Given the description of an element on the screen output the (x, y) to click on. 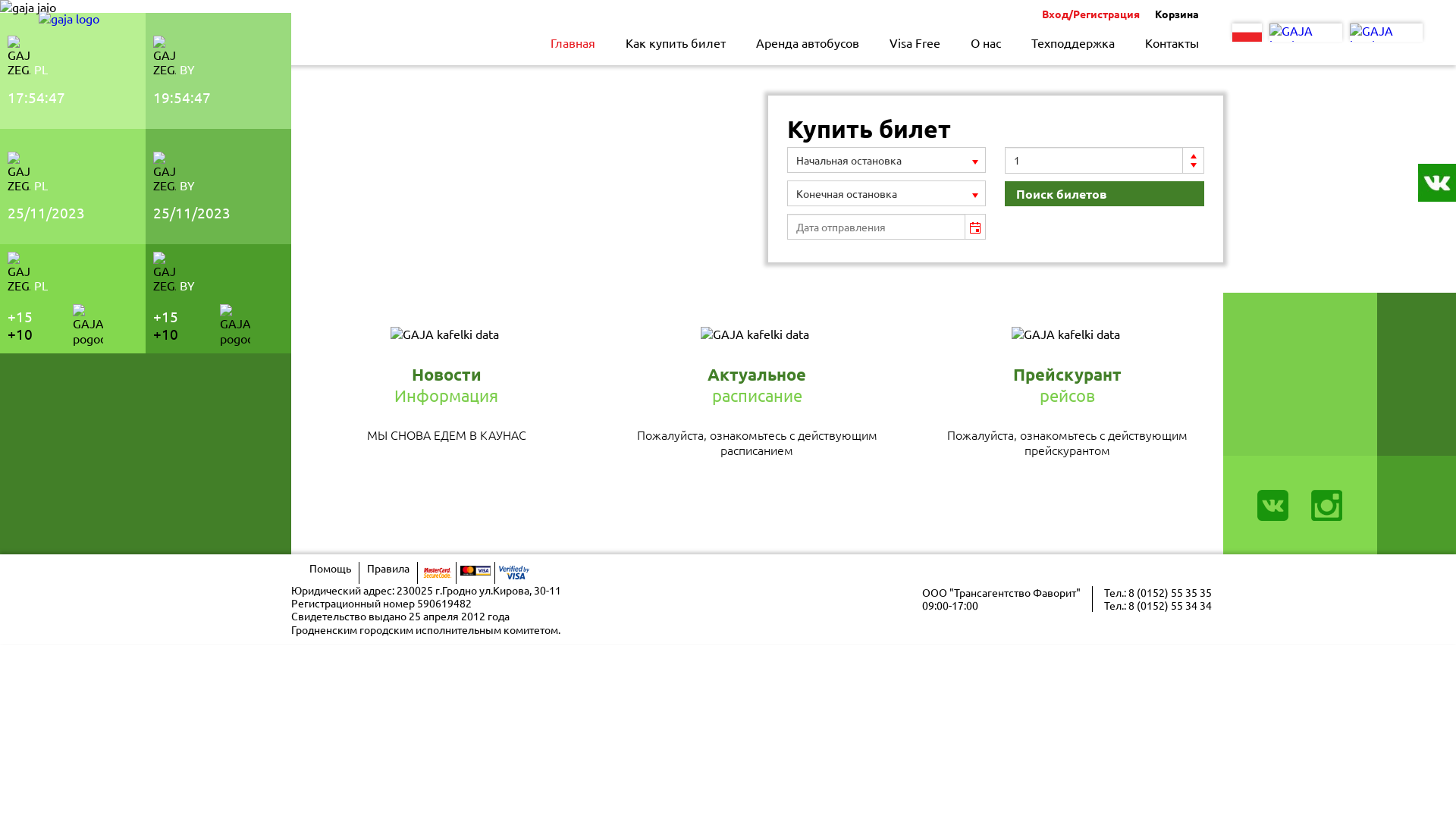
1 Element type: hover (1094, 159)
Visa Free Element type: text (914, 42)
Decrease value Element type: hover (1193, 166)
Increase value Element type: hover (1193, 153)
